Given the description of an element on the screen output the (x, y) to click on. 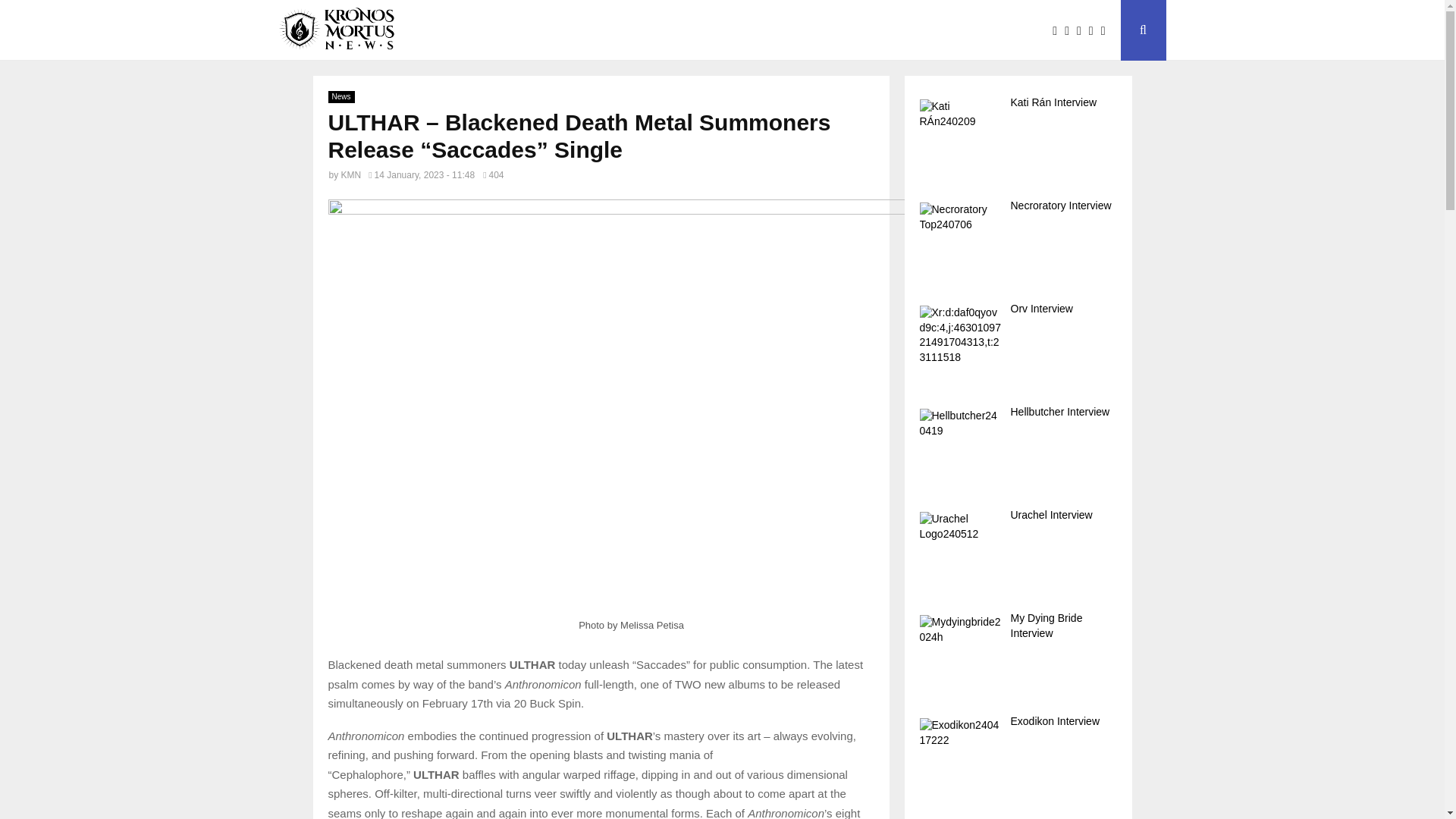
INTERVIEWS (545, 30)
FEEDBACK (733, 30)
PREMIERES (641, 30)
NEWS (465, 30)
KMN (350, 174)
News (340, 96)
